Given the description of an element on the screen output the (x, y) to click on. 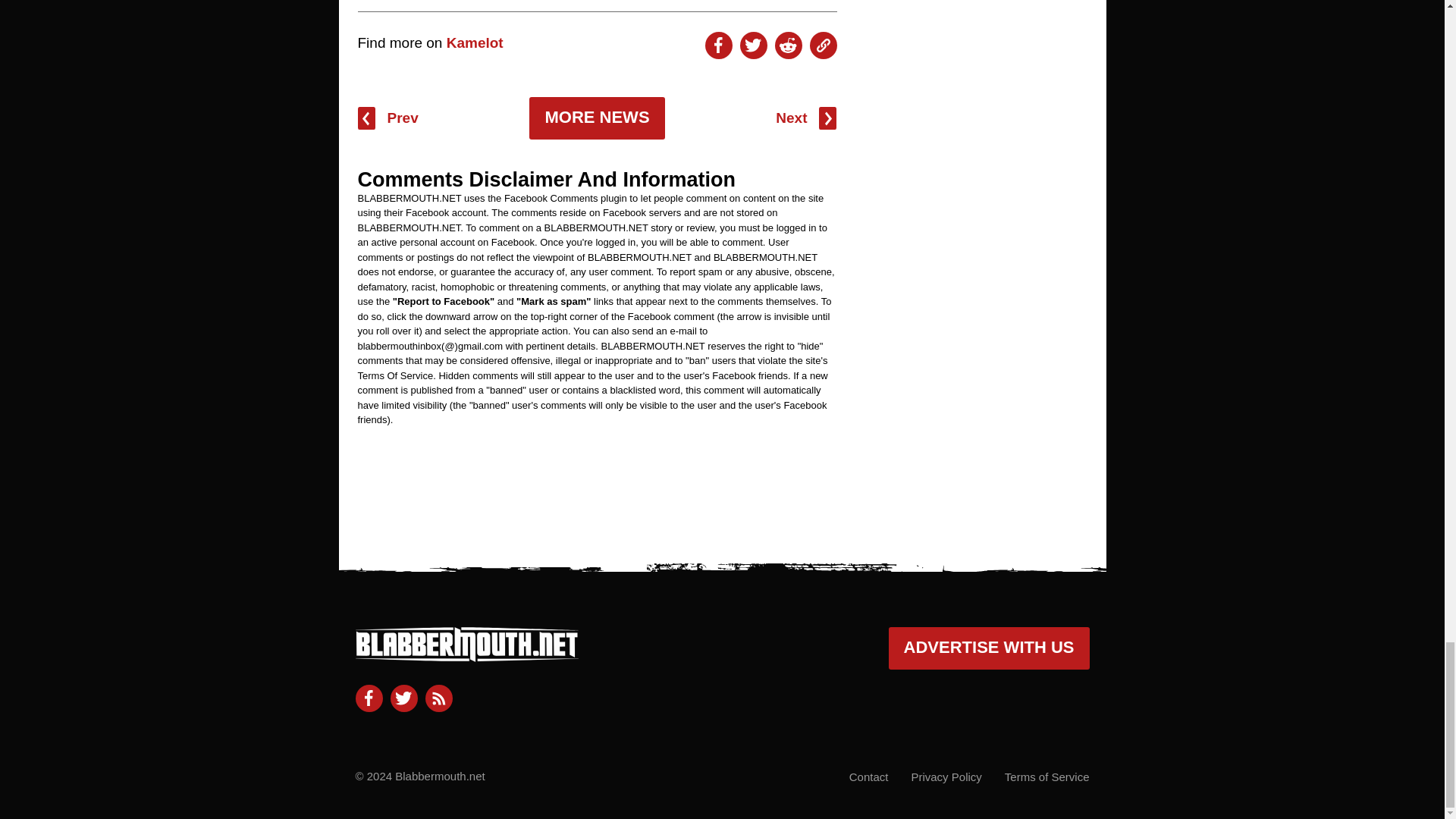
Share On Facebook (718, 44)
Share On Twitter (753, 44)
Share On Reddit (788, 44)
Kamelot (474, 42)
MORE NEWS (596, 118)
blabbermouth (466, 655)
Next (805, 118)
Copy To Clipboard (823, 44)
Prev (388, 118)
